Given the description of an element on the screen output the (x, y) to click on. 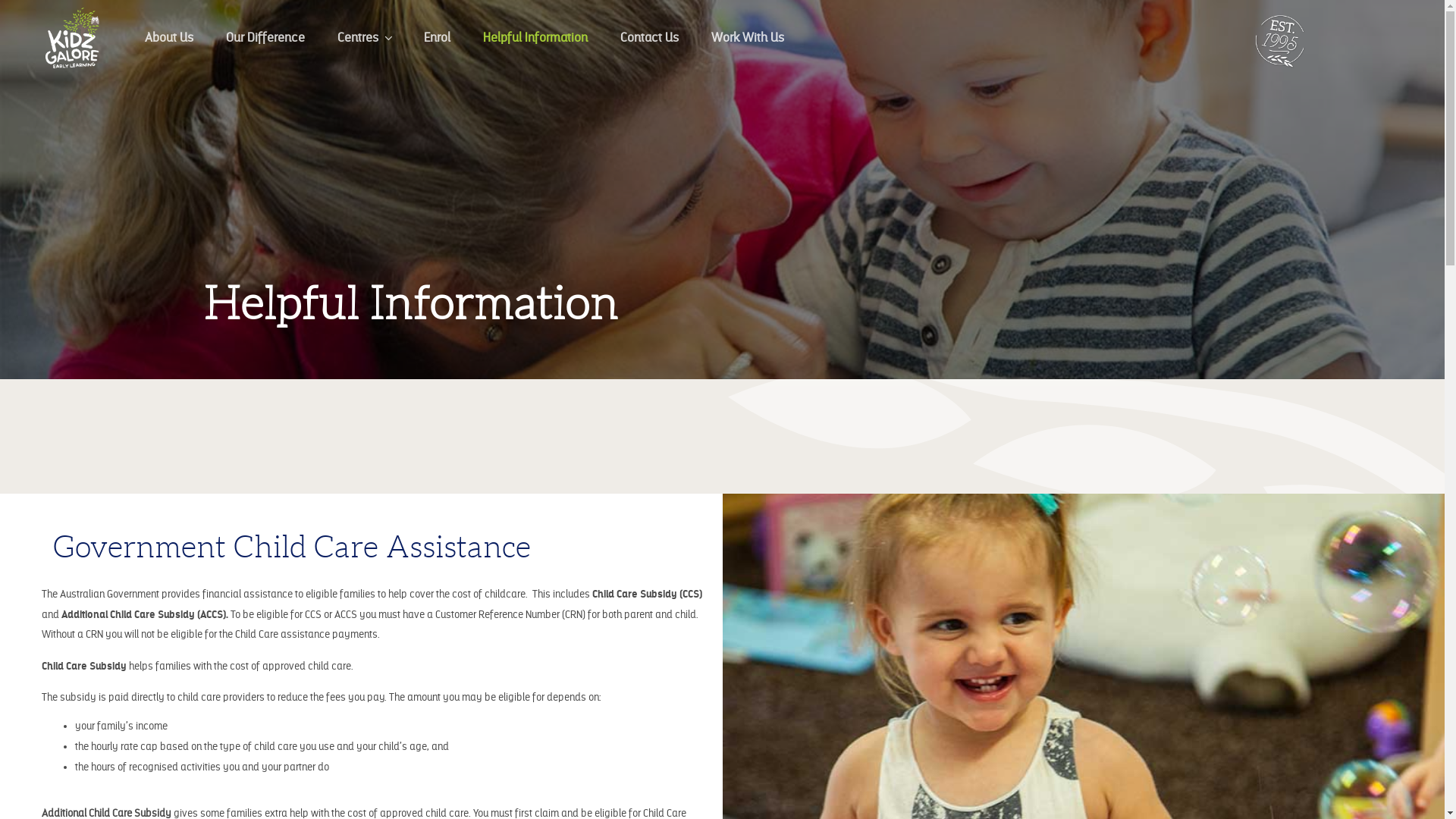
Enrol Element type: text (436, 37)
Helpful Information Element type: text (534, 37)
Contact Us Element type: text (649, 37)
Work With Us Element type: text (747, 37)
Our Difference Element type: text (265, 37)
Centres Element type: text (364, 37)
About Us Element type: text (168, 37)
